Given the description of an element on the screen output the (x, y) to click on. 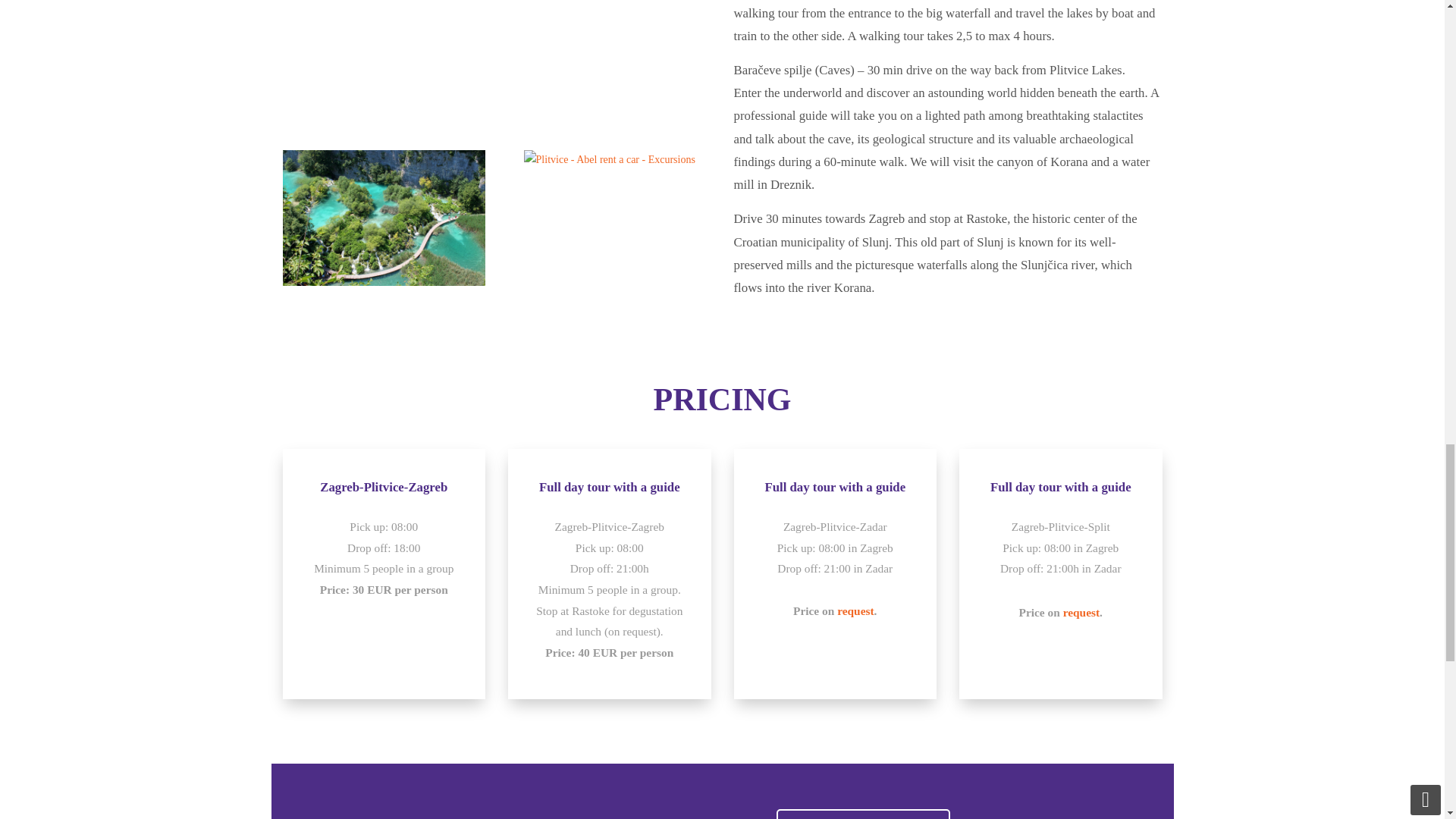
request (855, 610)
request (1080, 612)
Plitvice - Abel rent a car - Excursions (383, 217)
Plitvice - Abel rent a car - Excursions (609, 158)
Plitvice - Abel rent a car - Excursions (496, 61)
